Given the description of an element on the screen output the (x, y) to click on. 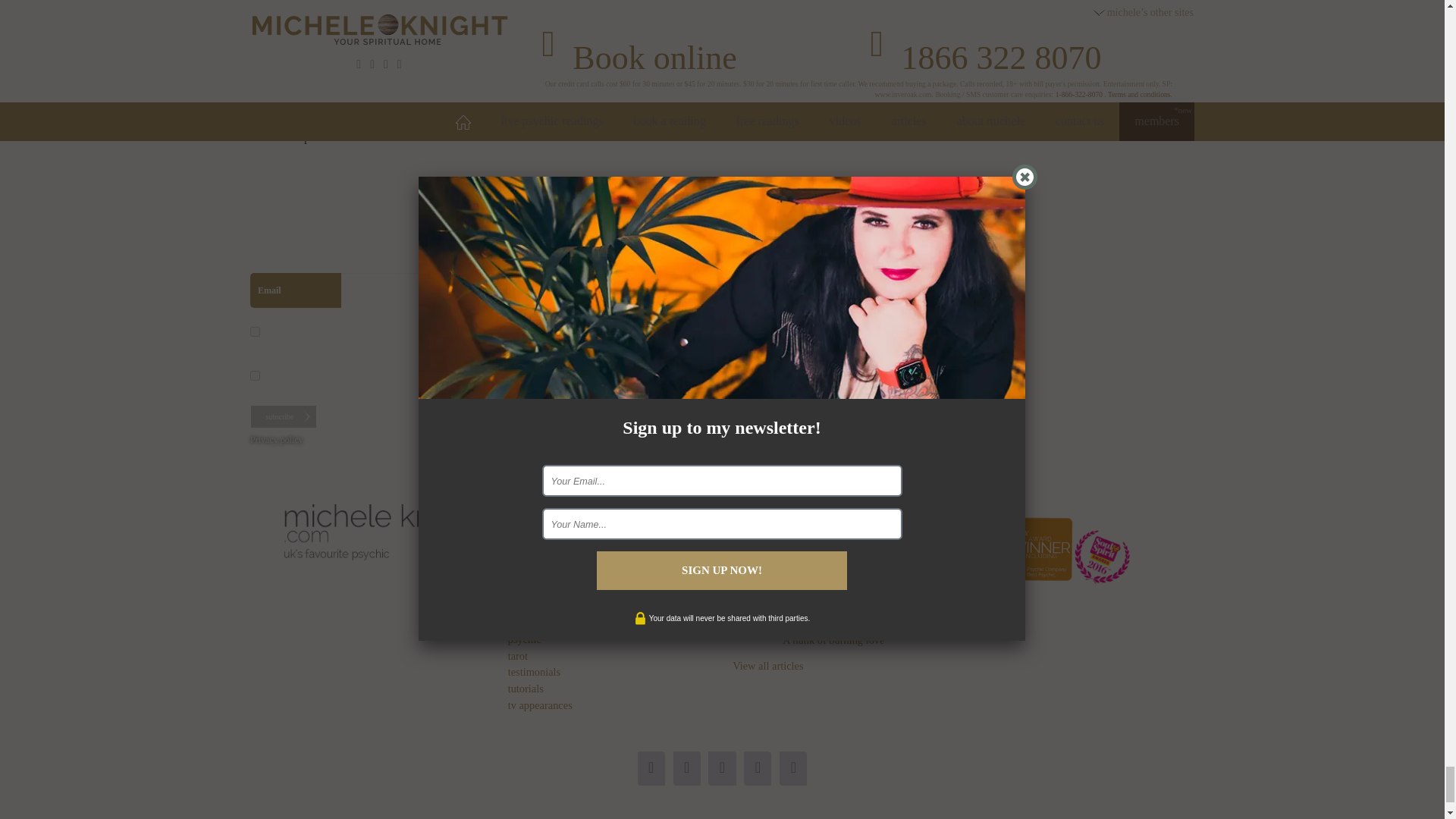
yes (255, 4)
on (255, 375)
Post Comment (293, 54)
on (255, 331)
